Given the description of an element on the screen output the (x, y) to click on. 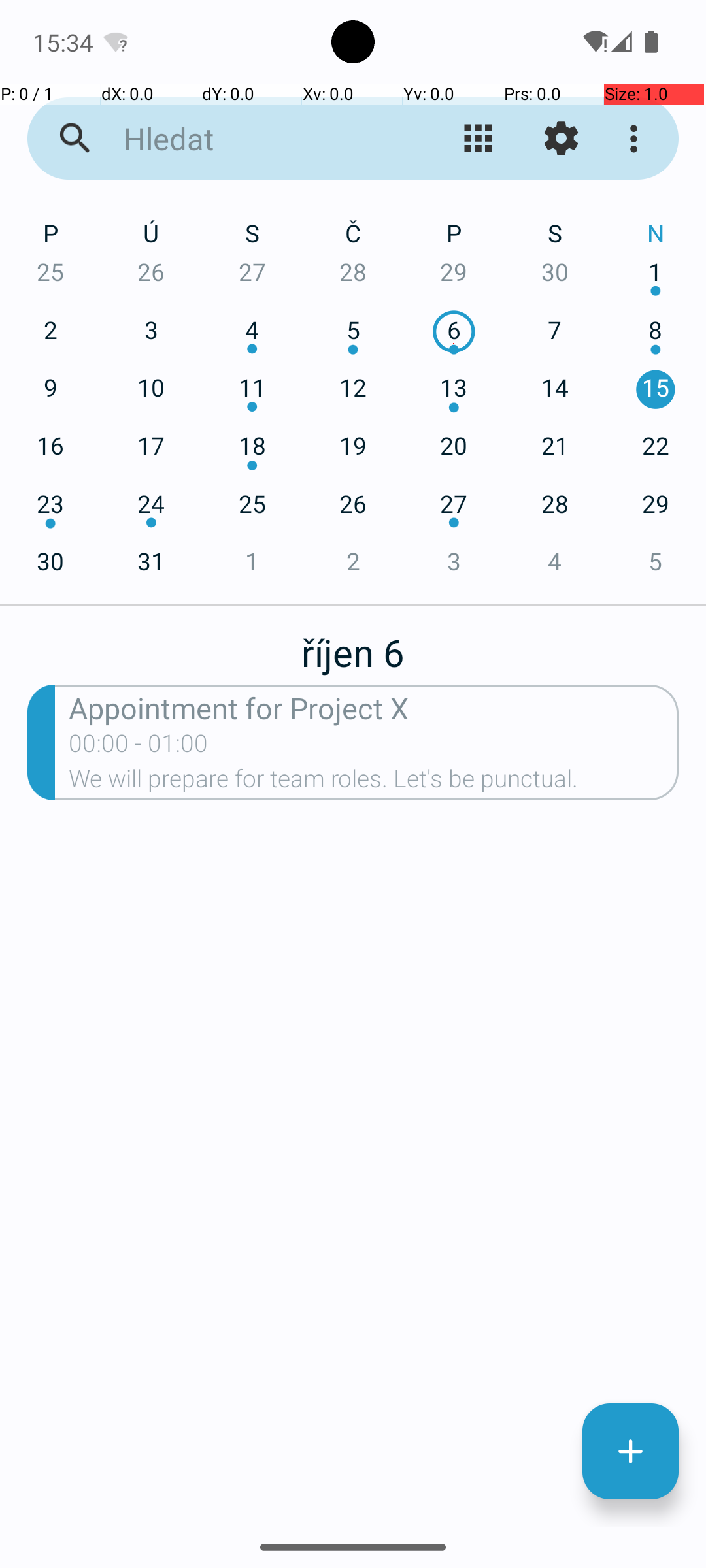
Hledat Element type: android.widget.EditText (252, 138)
Změnit zobrazení Element type: android.widget.Button (477, 138)
Nastavení Element type: android.widget.Button (560, 138)
Další možnosti Element type: android.widget.ImageView (636, 138)
Nová událost Element type: android.widget.ImageButton (630, 1451)
říjen 6 Element type: android.widget.TextView (352, 644)
00:00 - 01:00 Element type: android.widget.TextView (137, 747)
We will prepare for team roles. Let's be punctual. Element type: android.widget.TextView (373, 782)
